Given the description of an element on the screen output the (x, y) to click on. 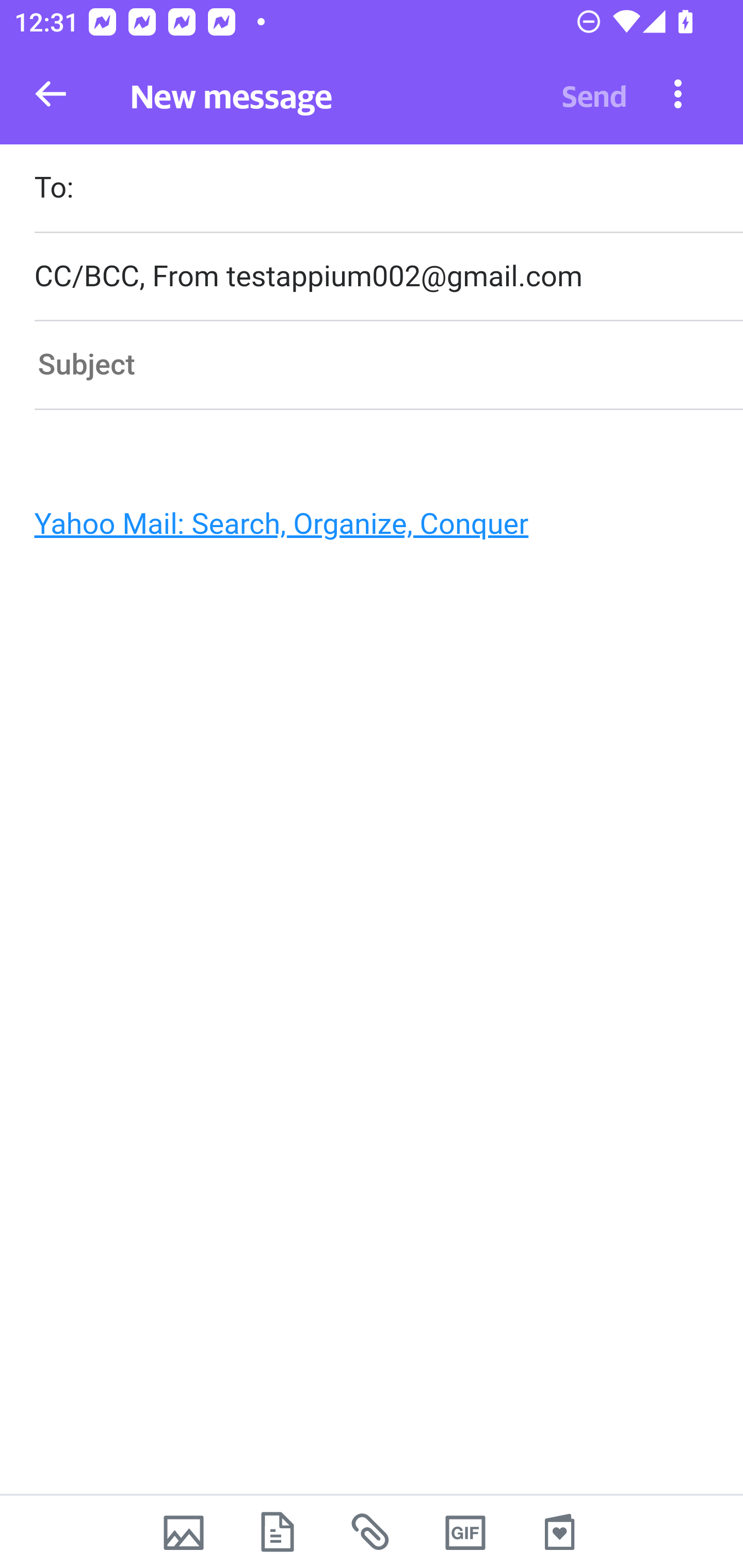
Back (50, 93)
Send (594, 93)
More options (677, 93)
To: (387, 189)
CC/BCC, From testappium002@gmail.com (387, 276)


Yahoo Mail: Search, Organize, Conquer (363, 528)
Camera photos (183, 1531)
Device files (277, 1531)
Recent attachments from mail (371, 1531)
GIFs (465, 1531)
Stationery (559, 1531)
